Given the description of an element on the screen output the (x, y) to click on. 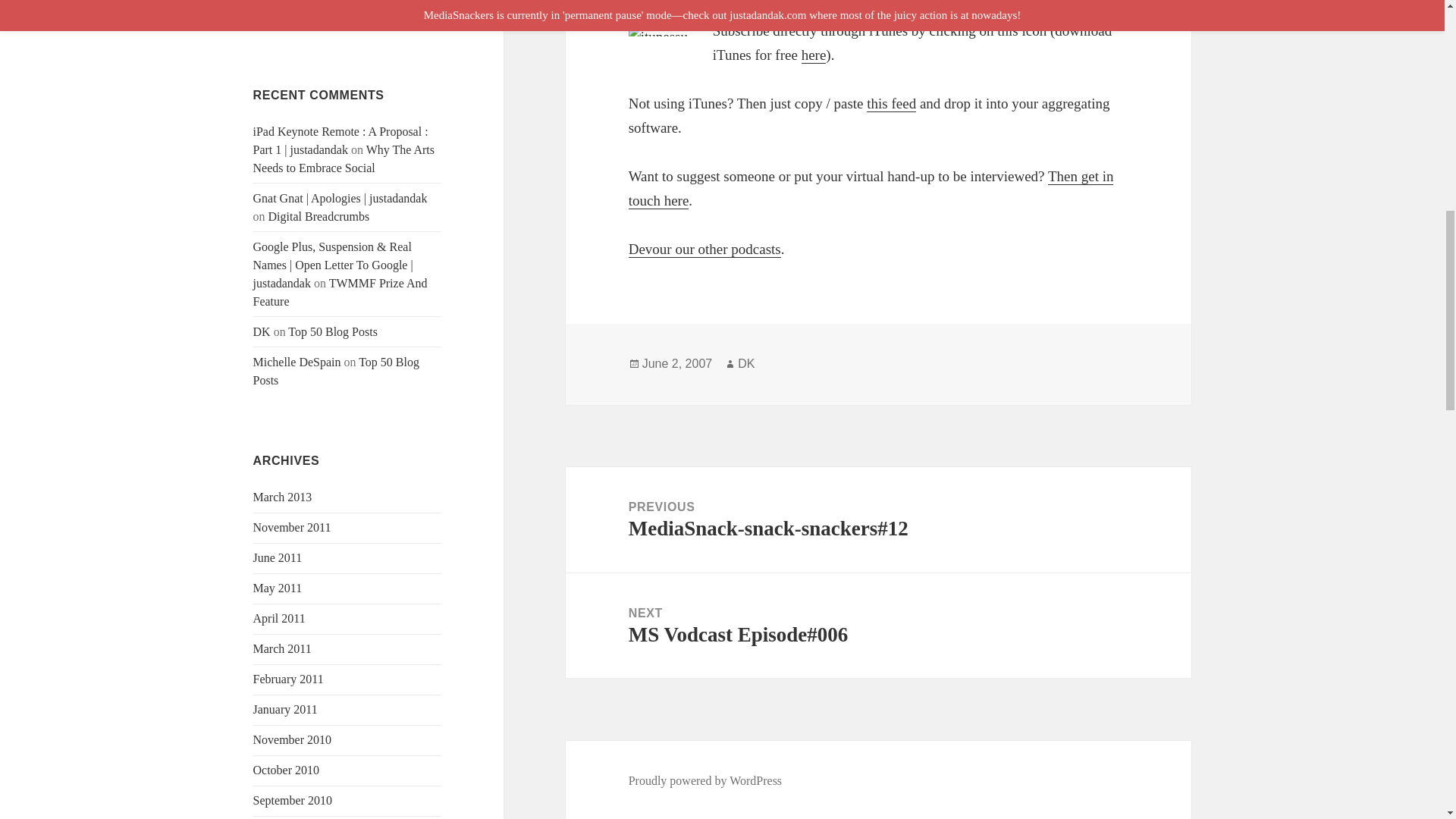
Top 50 Blog Posts (336, 370)
November 2010 (292, 739)
Digital Breadcrumbs (318, 215)
June 2011 (277, 557)
Michelle DeSpain (296, 361)
TWMMF Prize And Feature (340, 291)
November 2011 (292, 526)
May 2011 (277, 587)
Why The Arts Needs to Embrace Social (343, 158)
January 2011 (285, 708)
DK (261, 331)
October 2010 (286, 769)
April 2011 (279, 617)
February 2011 (288, 678)
Top 50 Blog Posts (332, 331)
